Given the description of an element on the screen output the (x, y) to click on. 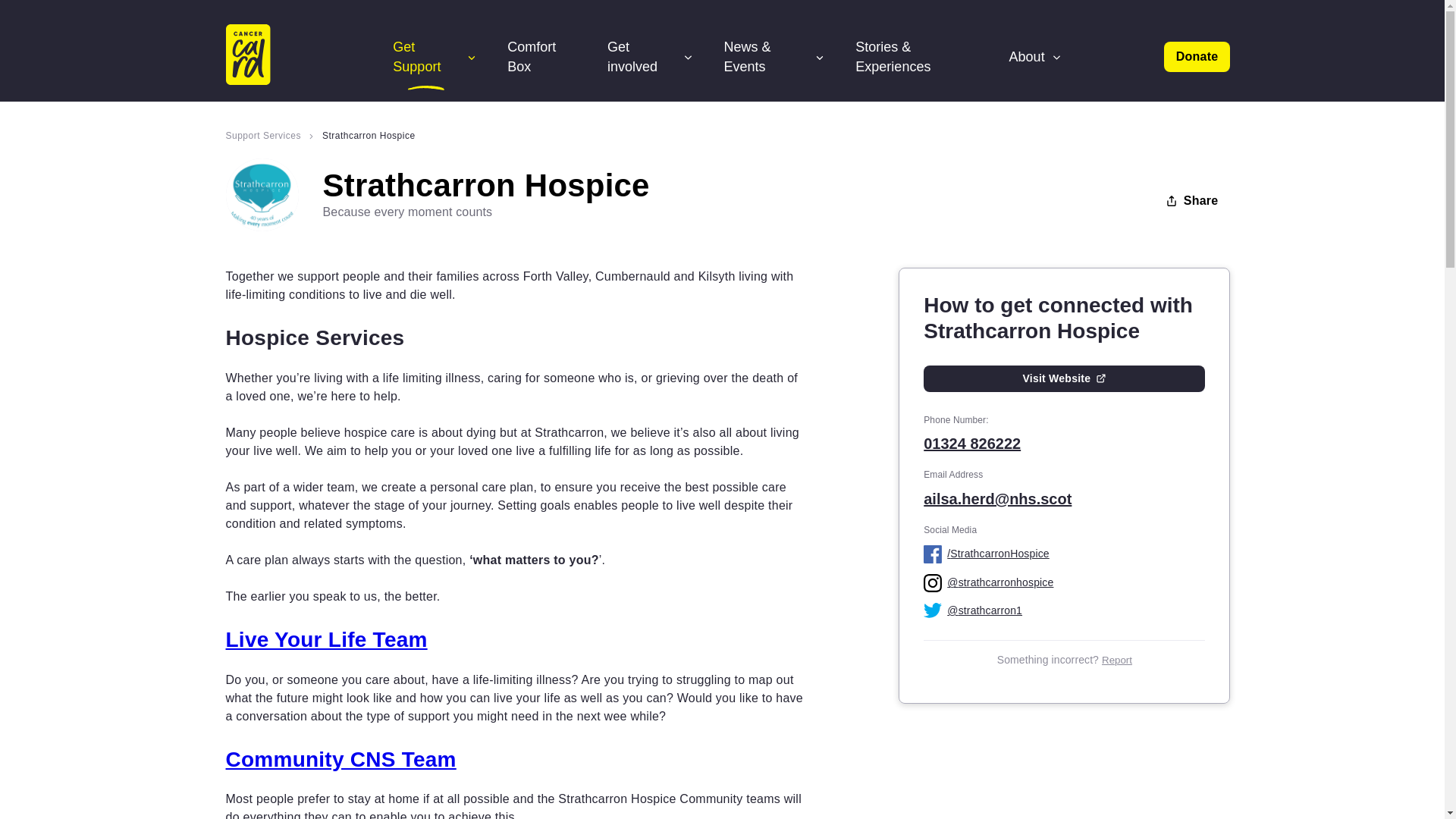
Live Your Life Team (326, 639)
Comfort Box (541, 56)
Strathcarron Hospice (367, 136)
Donate (1196, 56)
Community CNS Team (341, 759)
About (1035, 56)
Support Services (273, 136)
Get involved (650, 56)
Home (266, 56)
Get Support (435, 56)
Share (1191, 200)
